Given the description of an element on the screen output the (x, y) to click on. 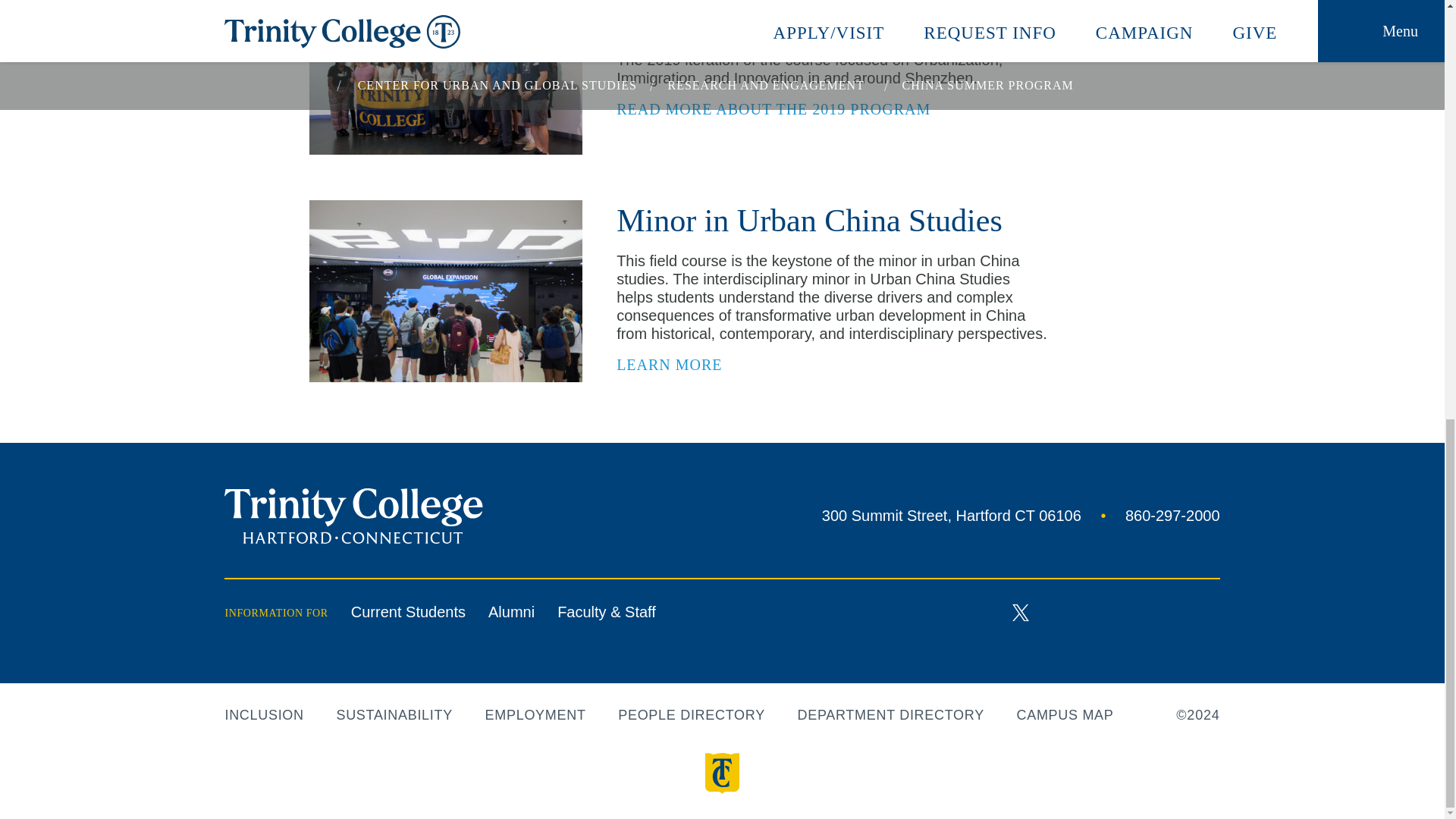
READ MORE ABOUT THE 2019 PROGRAM (782, 109)
linkedin (1116, 612)
flickr (1211, 612)
Current Students (408, 612)
youtube (1067, 612)
twitter (1020, 611)
860-297-2000 (954, 515)
LEARN MORE (1152, 516)
instagram (677, 364)
